Given the description of an element on the screen output the (x, y) to click on. 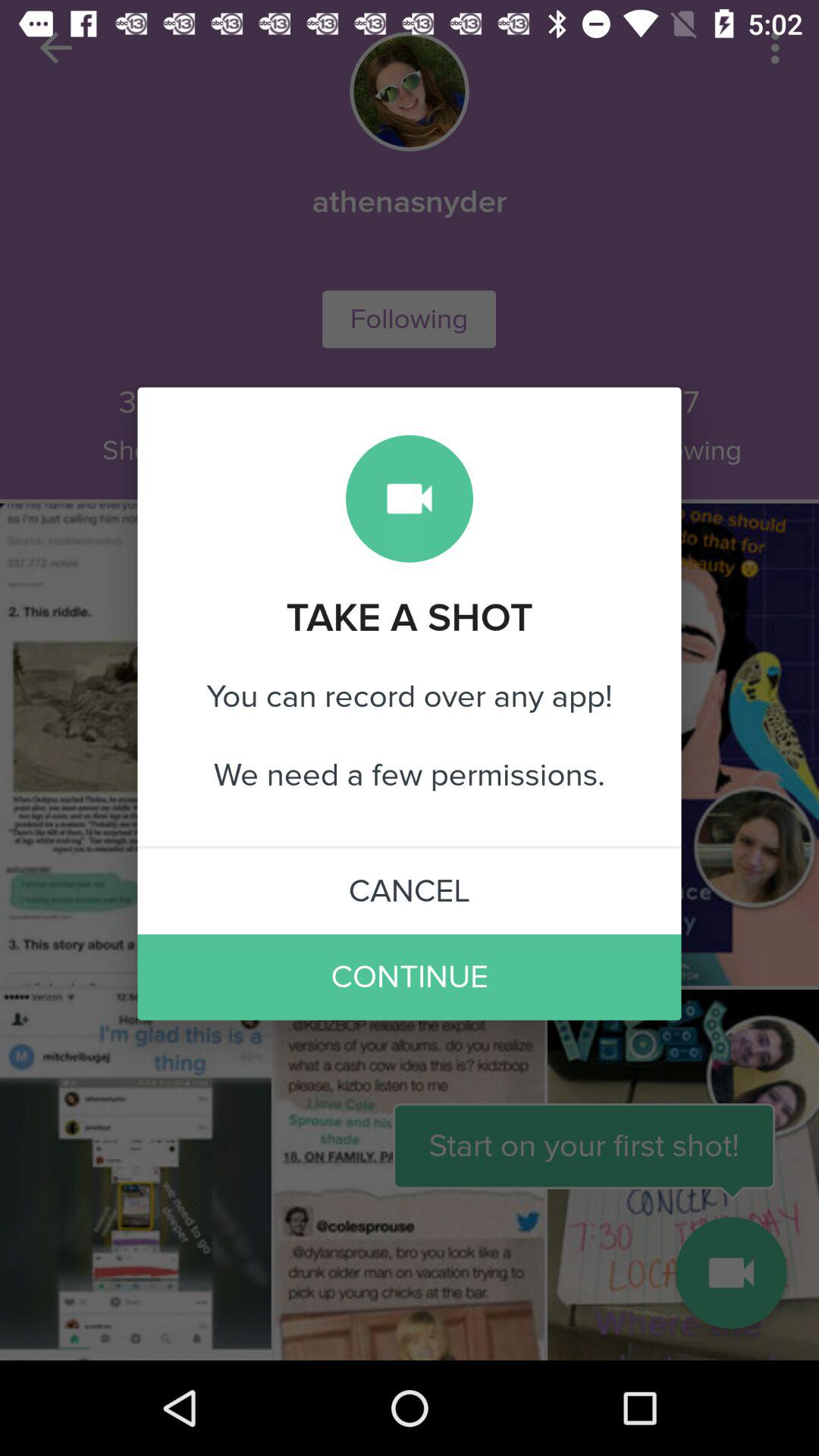
press icon above the continue icon (409, 891)
